Given the description of an element on the screen output the (x, y) to click on. 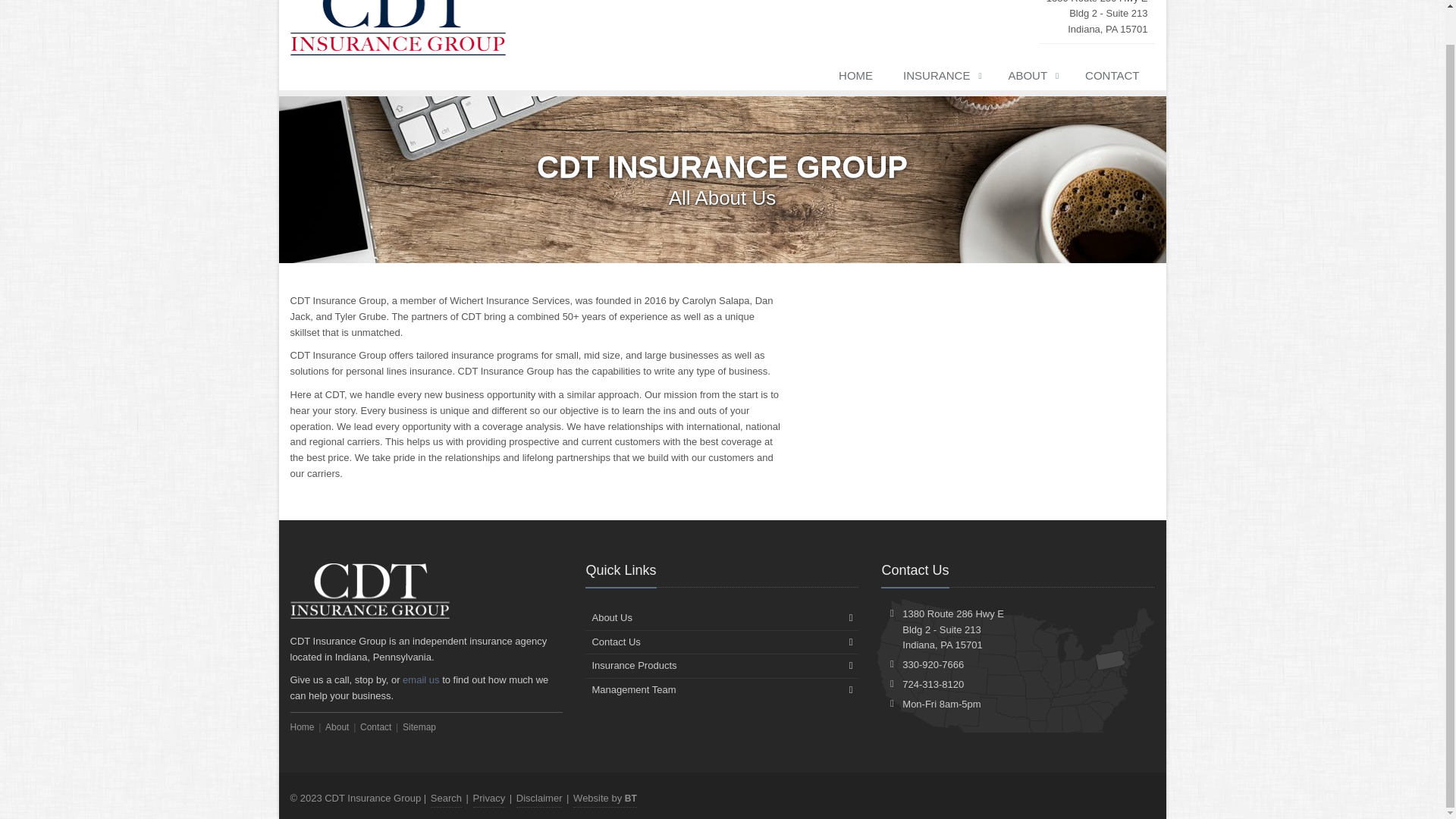
Insurance Products (722, 665)
Management Team (722, 689)
Sitemap (419, 726)
About Us (722, 617)
Disclaimer (539, 799)
Website by BT (605, 799)
About (336, 726)
Home (301, 726)
Contact (375, 726)
Search (445, 799)
Contact Us (722, 641)
email us (421, 679)
Privacy (489, 799)
